Given the description of an element on the screen output the (x, y) to click on. 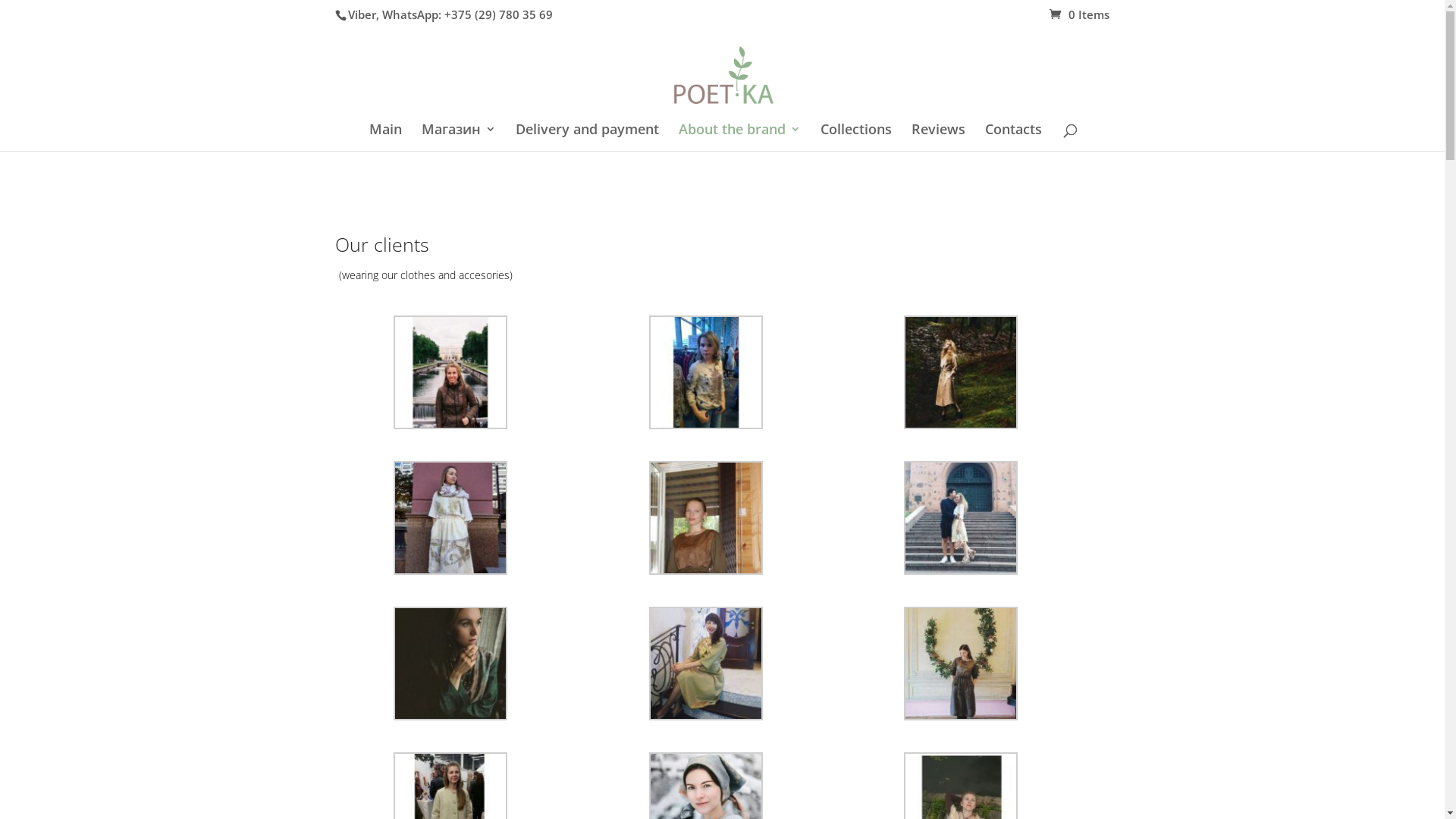
Main Element type: text (385, 136)
Contacts Element type: text (1013, 136)
Reviews Element type: text (938, 136)
Collections Element type: text (855, 136)
Delivery and payment Element type: text (586, 136)
0 Items Element type: text (1079, 13)
About the brand Element type: text (739, 136)
